Given the description of an element on the screen output the (x, y) to click on. 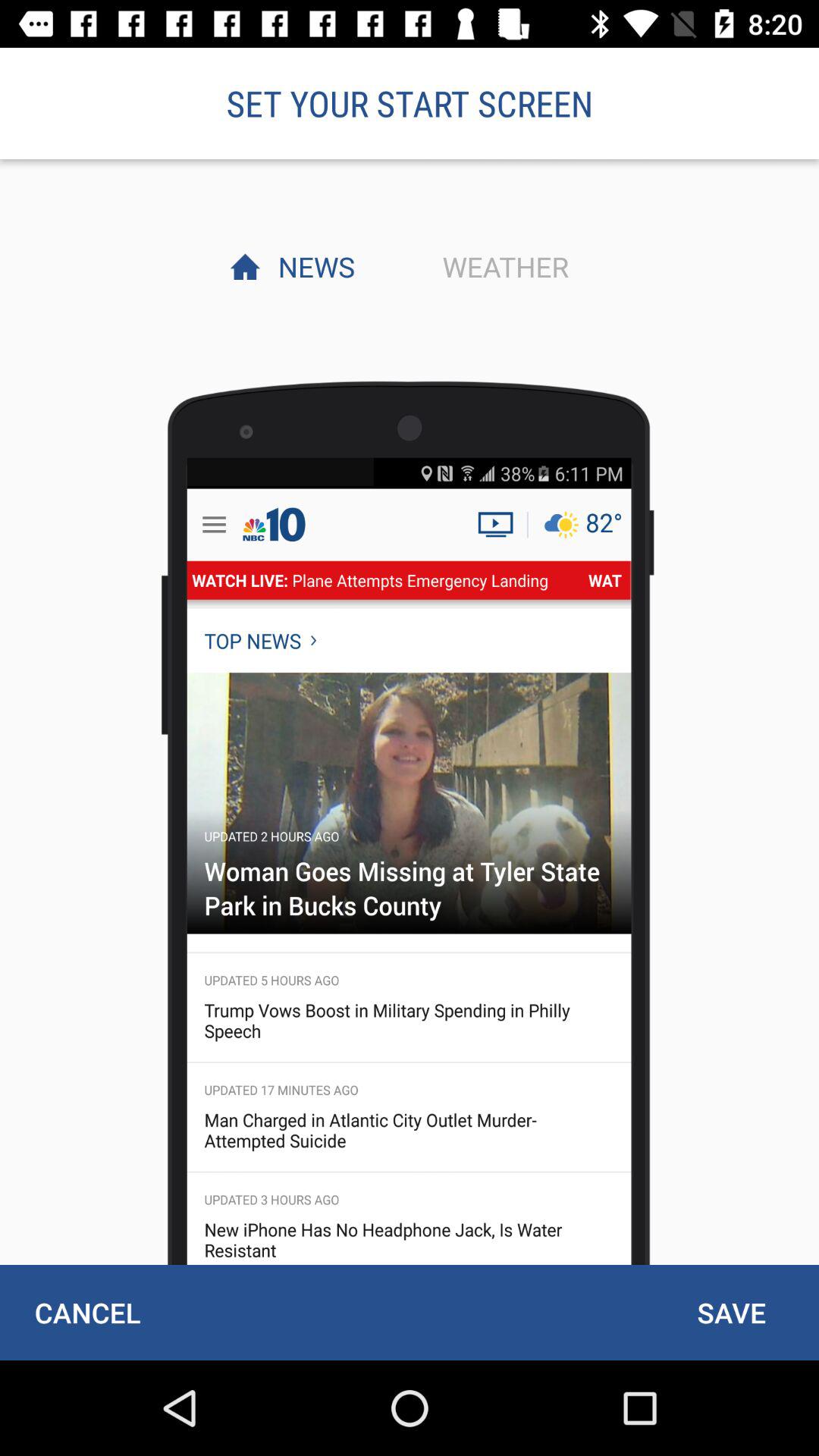
tap item to the right of news icon (501, 266)
